Given the description of an element on the screen output the (x, y) to click on. 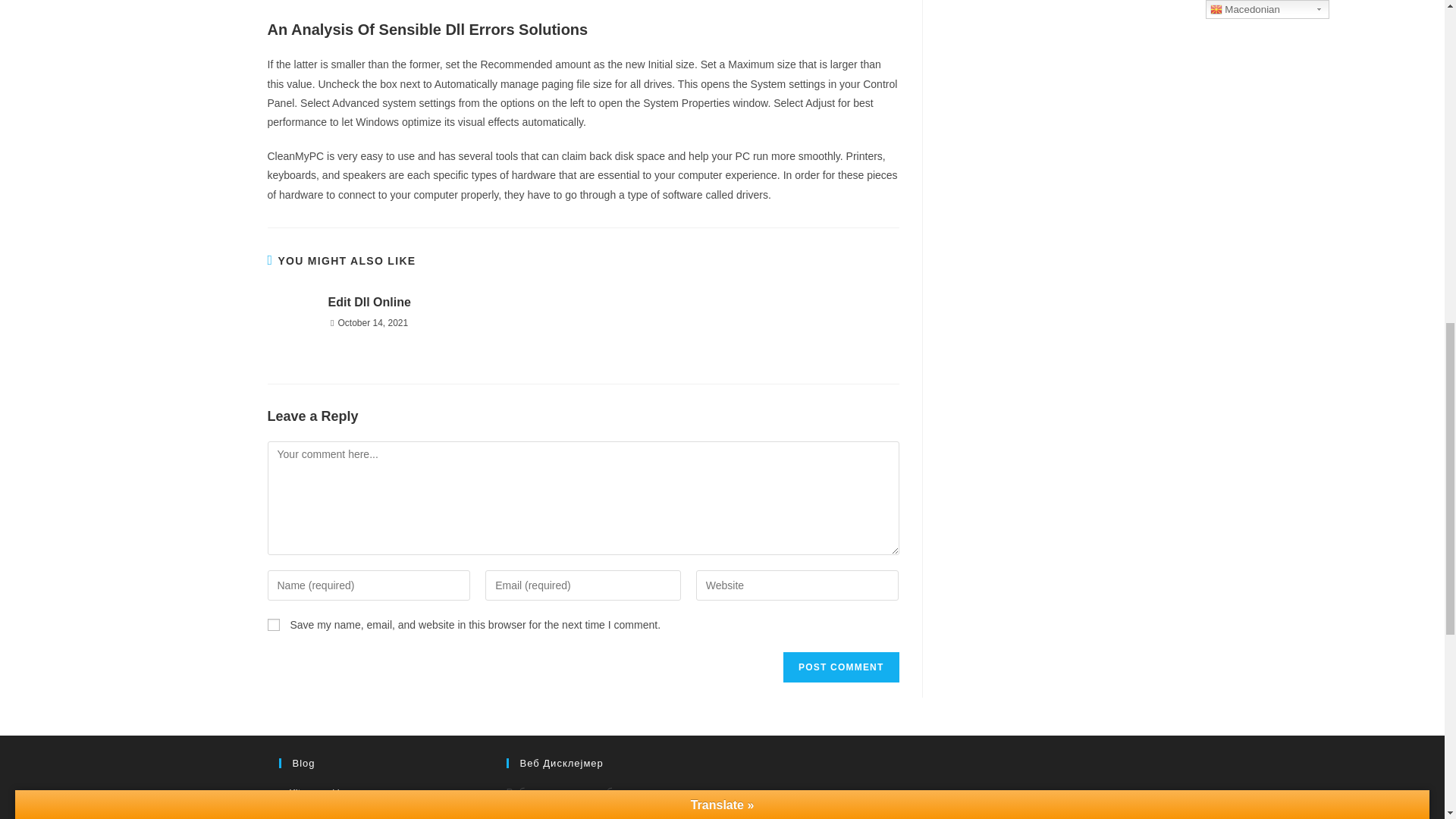
Edit Dll Online (368, 302)
yes (272, 624)
Post Comment (840, 666)
Edit Dll Online (368, 302)
Post Comment (840, 666)
Kitannovski (309, 792)
